Given the description of an element on the screen output the (x, y) to click on. 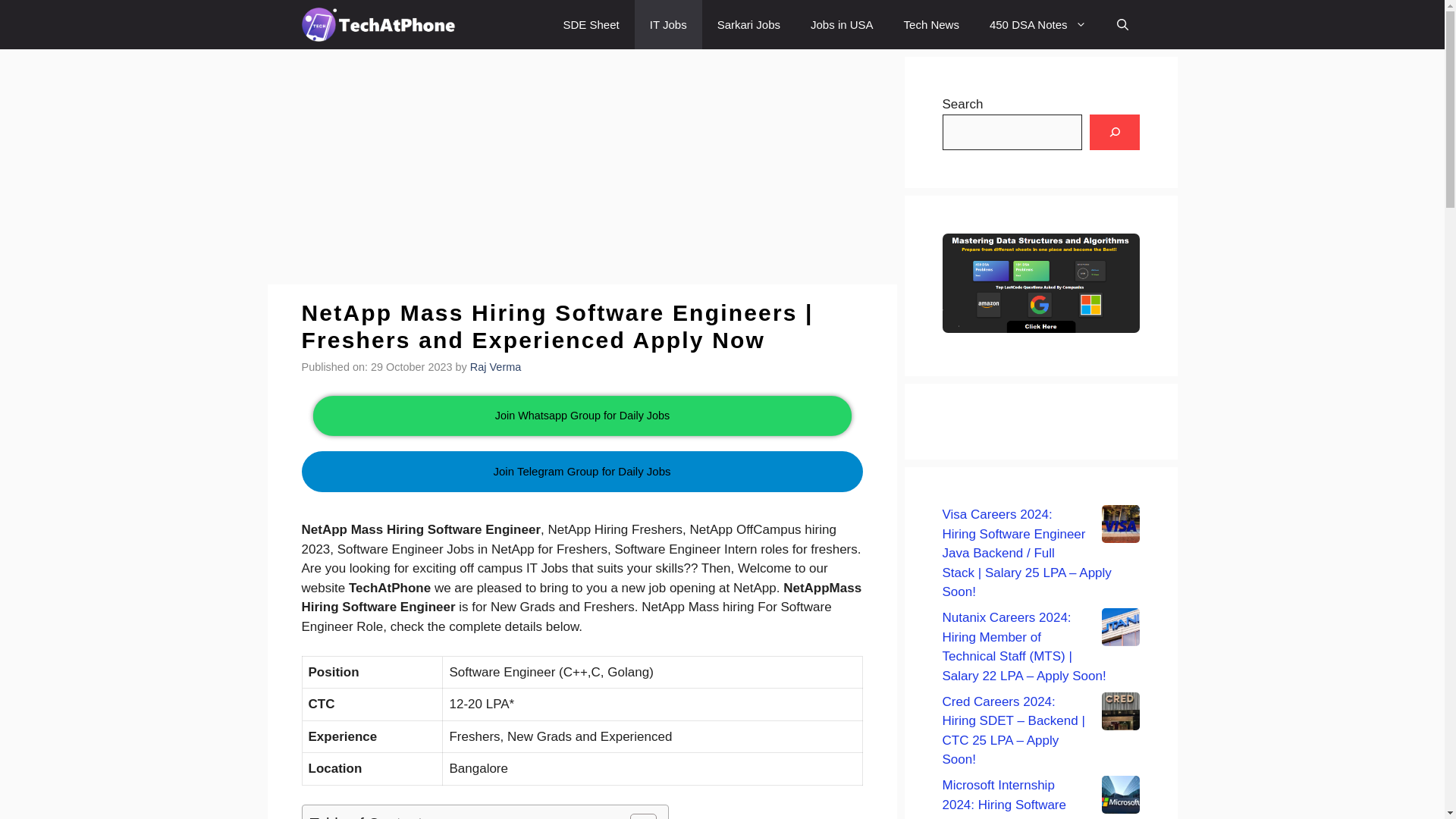
Join Whatsapp Group for Daily Jobs (576, 415)
Join Telegram Group for Daily Jobs (582, 472)
TechAtPhone (379, 24)
Join Whatsapp Group for Daily Jobs (582, 414)
Sarkari Jobs (747, 24)
IT Jobs (667, 24)
Tech News (931, 24)
450 DSA Notes (1038, 24)
SDE Sheet (591, 24)
Join Telegram Group for Daily Jobs (582, 499)
Raj Verma (495, 367)
Jobs in USA (841, 24)
View all posts by Raj Verma (495, 367)
